Given the description of an element on the screen output the (x, y) to click on. 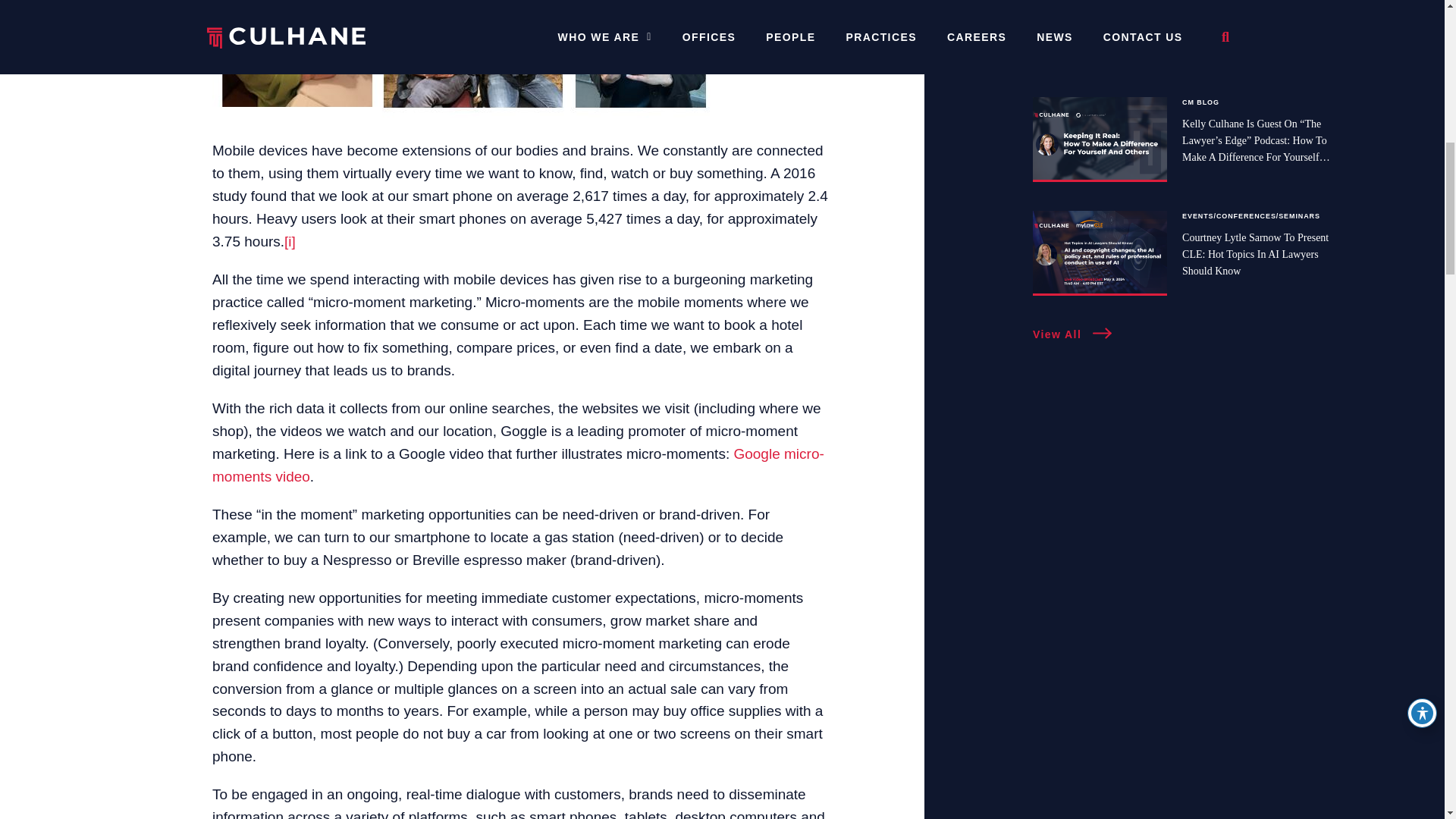
View All (1072, 334)
